Given the description of an element on the screen output the (x, y) to click on. 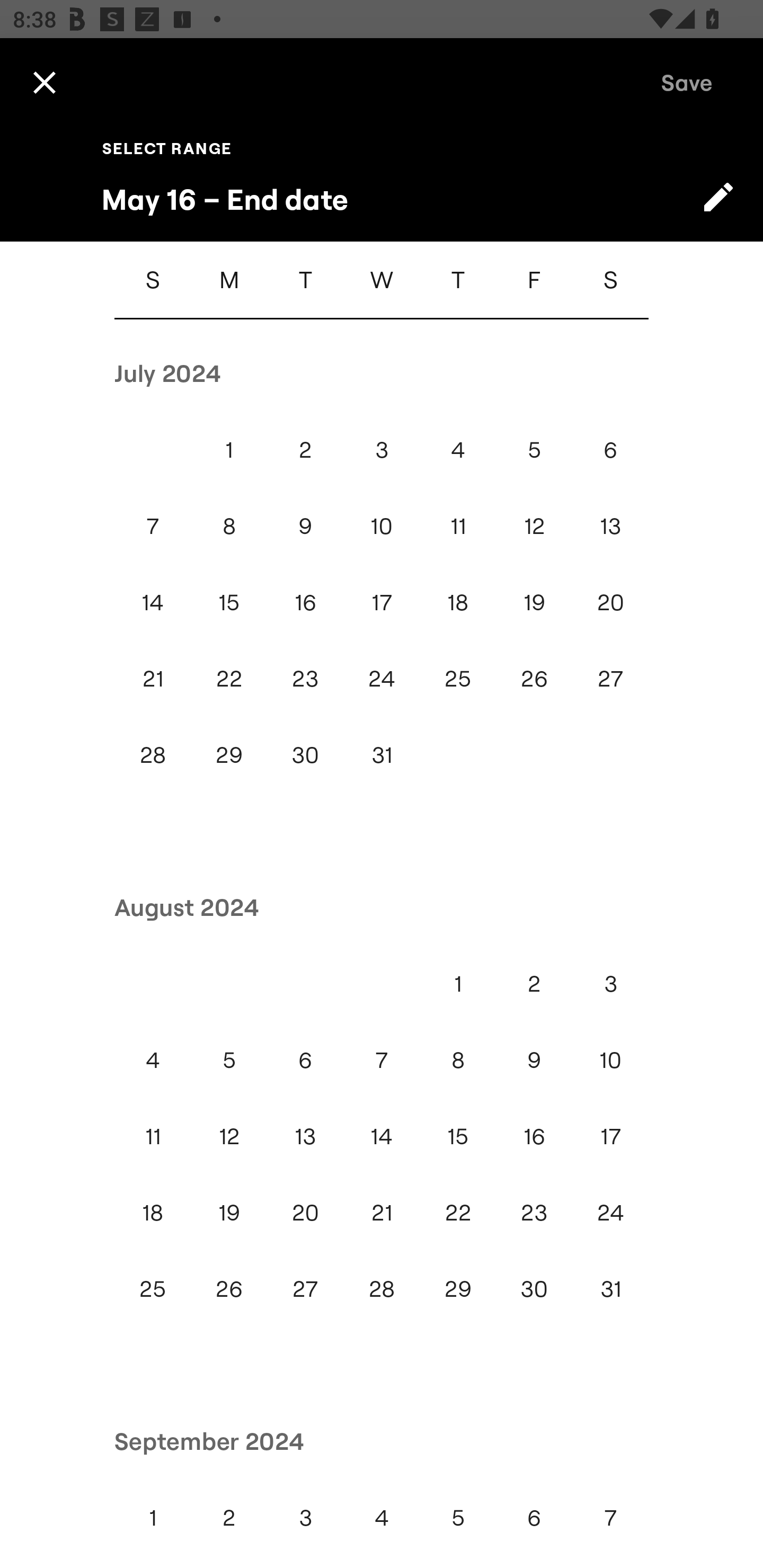
Cancel (44, 81)
Save (686, 81)
Switch to text input mode (718, 196)
1 Mon, Jul 1 (228, 448)
2 Tue, Jul 2 (305, 448)
3 Wed, Jul 3 (381, 448)
4 Thu, Jul 4 (457, 448)
5 Fri, Jul 5 (533, 448)
6 Sat, Jul 6 (610, 448)
7 Sun, Jul 7 (152, 525)
8 Mon, Jul 8 (228, 525)
9 Tue, Jul 9 (305, 525)
10 Wed, Jul 10 (381, 525)
11 Thu, Jul 11 (457, 525)
12 Fri, Jul 12 (533, 525)
13 Sat, Jul 13 (610, 525)
14 Sun, Jul 14 (152, 601)
15 Mon, Jul 15 (228, 601)
16 Tue, Jul 16 (305, 601)
17 Wed, Jul 17 (381, 601)
18 Thu, Jul 18 (457, 601)
19 Fri, Jul 19 (533, 601)
20 Sat, Jul 20 (610, 601)
21 Sun, Jul 21 (152, 677)
22 Mon, Jul 22 (228, 677)
23 Tue, Jul 23 (305, 677)
24 Wed, Jul 24 (381, 677)
25 Thu, Jul 25 (457, 677)
26 Fri, Jul 26 (533, 677)
27 Sat, Jul 27 (610, 677)
28 Sun, Jul 28 (152, 754)
29 Mon, Jul 29 (228, 754)
30 Tue, Jul 30 (305, 754)
31 Wed, Jul 31 (381, 754)
1 Thu, Aug 1 (457, 983)
2 Fri, Aug 2 (533, 983)
3 Sat, Aug 3 (610, 983)
4 Sun, Aug 4 (152, 1059)
5 Mon, Aug 5 (228, 1059)
6 Tue, Aug 6 (305, 1059)
7 Wed, Aug 7 (381, 1059)
8 Thu, Aug 8 (457, 1059)
9 Fri, Aug 9 (533, 1059)
10 Sat, Aug 10 (610, 1059)
11 Sun, Aug 11 (152, 1135)
12 Mon, Aug 12 (228, 1135)
13 Tue, Aug 13 (305, 1135)
14 Wed, Aug 14 (381, 1135)
15 Thu, Aug 15 (457, 1135)
16 Fri, Aug 16 (533, 1135)
17 Sat, Aug 17 (610, 1135)
18 Sun, Aug 18 (152, 1212)
19 Mon, Aug 19 (228, 1212)
20 Tue, Aug 20 (305, 1212)
21 Wed, Aug 21 (381, 1212)
22 Thu, Aug 22 (457, 1212)
23 Fri, Aug 23 (533, 1212)
24 Sat, Aug 24 (610, 1212)
25 Sun, Aug 25 (152, 1288)
26 Mon, Aug 26 (228, 1288)
27 Tue, Aug 27 (305, 1288)
28 Wed, Aug 28 (381, 1288)
29 Thu, Aug 29 (457, 1288)
30 Fri, Aug 30 (533, 1288)
31 Sat, Aug 31 (610, 1288)
1 Sun, Sep 1 (152, 1517)
2 Mon, Sep 2 (228, 1517)
3 Tue, Sep 3 (305, 1517)
4 Wed, Sep 4 (381, 1517)
5 Thu, Sep 5 (457, 1517)
6 Fri, Sep 6 (533, 1517)
7 Sat, Sep 7 (610, 1517)
